Given the description of an element on the screen output the (x, y) to click on. 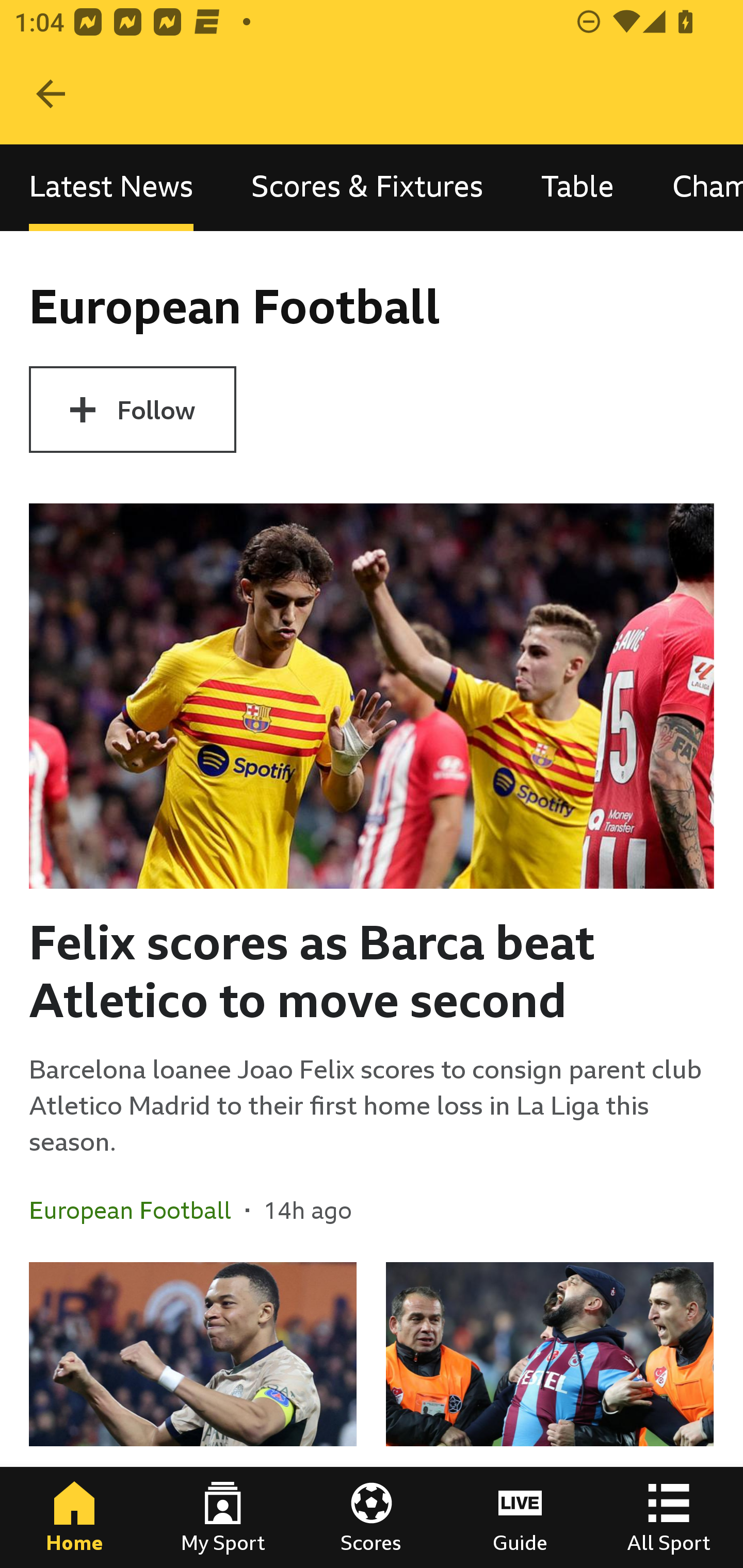
Navigate up (50, 93)
Latest News, selected Latest News (111, 187)
Scores & Fixtures (367, 187)
Table (577, 187)
Champions League (693, 187)
Follow European Football Follow (132, 409)
Mbappe scores hat-trick as PSG thrash Montpellier (192, 1415)
My Sport (222, 1517)
Scores (371, 1517)
Guide (519, 1517)
All Sport (668, 1517)
